Given the description of an element on the screen output the (x, y) to click on. 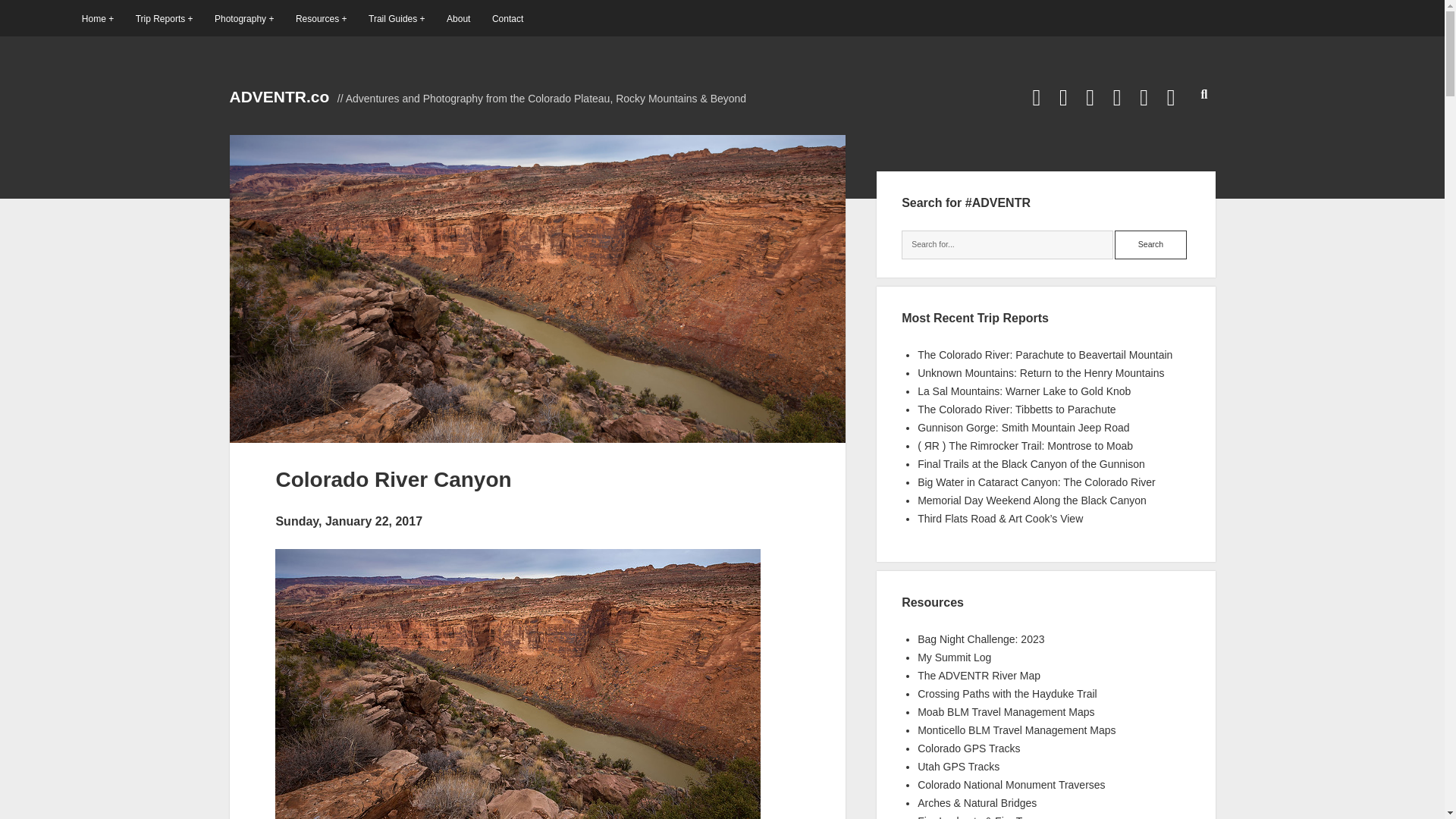
Search (1150, 244)
instagram (1090, 97)
twitter (1036, 97)
About ADVENTR.co (458, 18)
Trip Reports (164, 18)
Search (1150, 244)
Photography (243, 18)
Home (97, 18)
rss (1117, 97)
email-form (1144, 97)
facebook (1063, 97)
Contact (507, 18)
flickr (1170, 97)
